Given the description of an element on the screen output the (x, y) to click on. 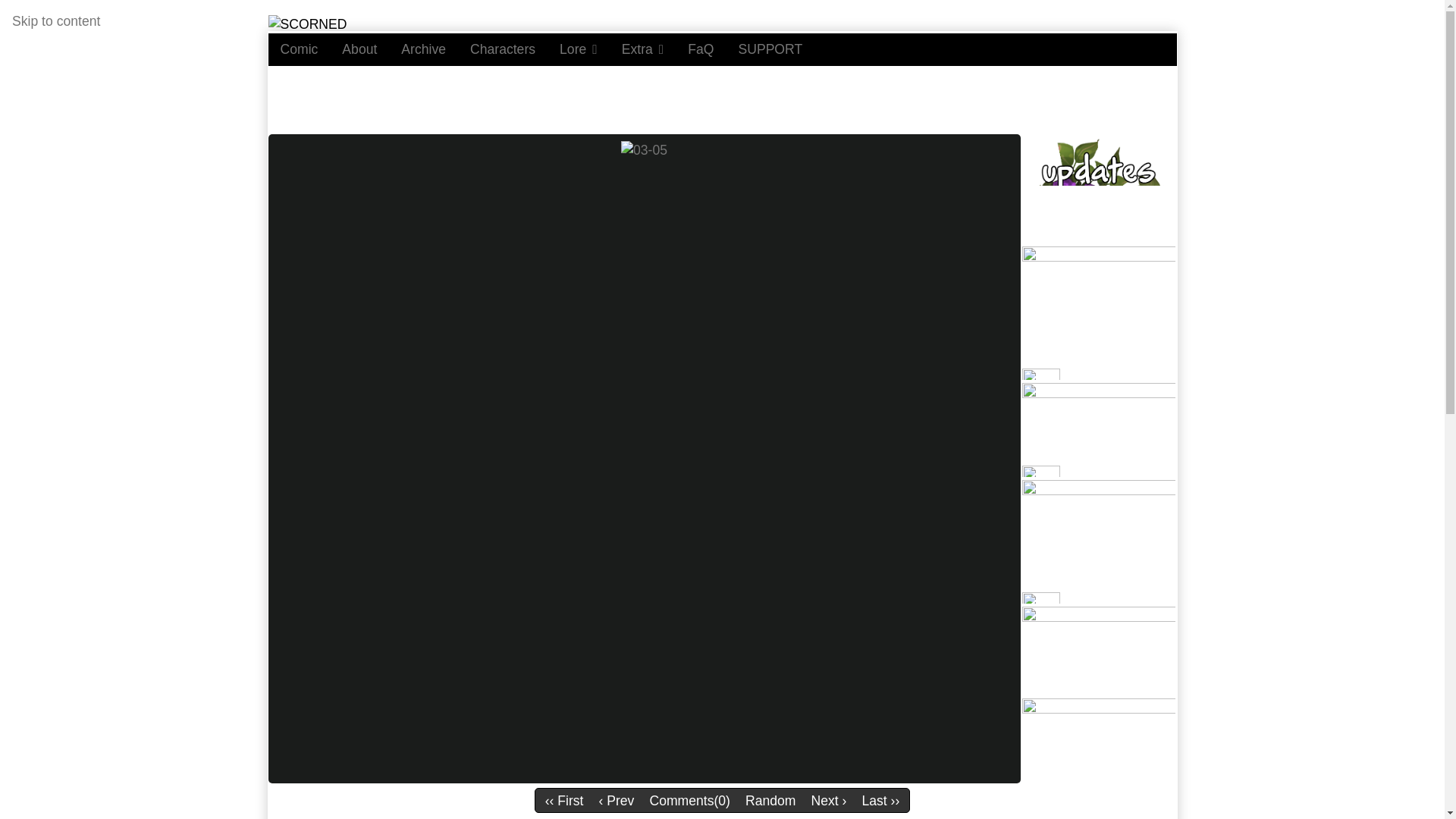
03-05 (643, 149)
Comic (298, 49)
Skip to content (55, 20)
Extra (643, 49)
Characters (502, 49)
Archive (423, 49)
03-05 (643, 149)
SUPPORT (769, 49)
Random (770, 800)
03-05 (689, 800)
